Given the description of an element on the screen output the (x, y) to click on. 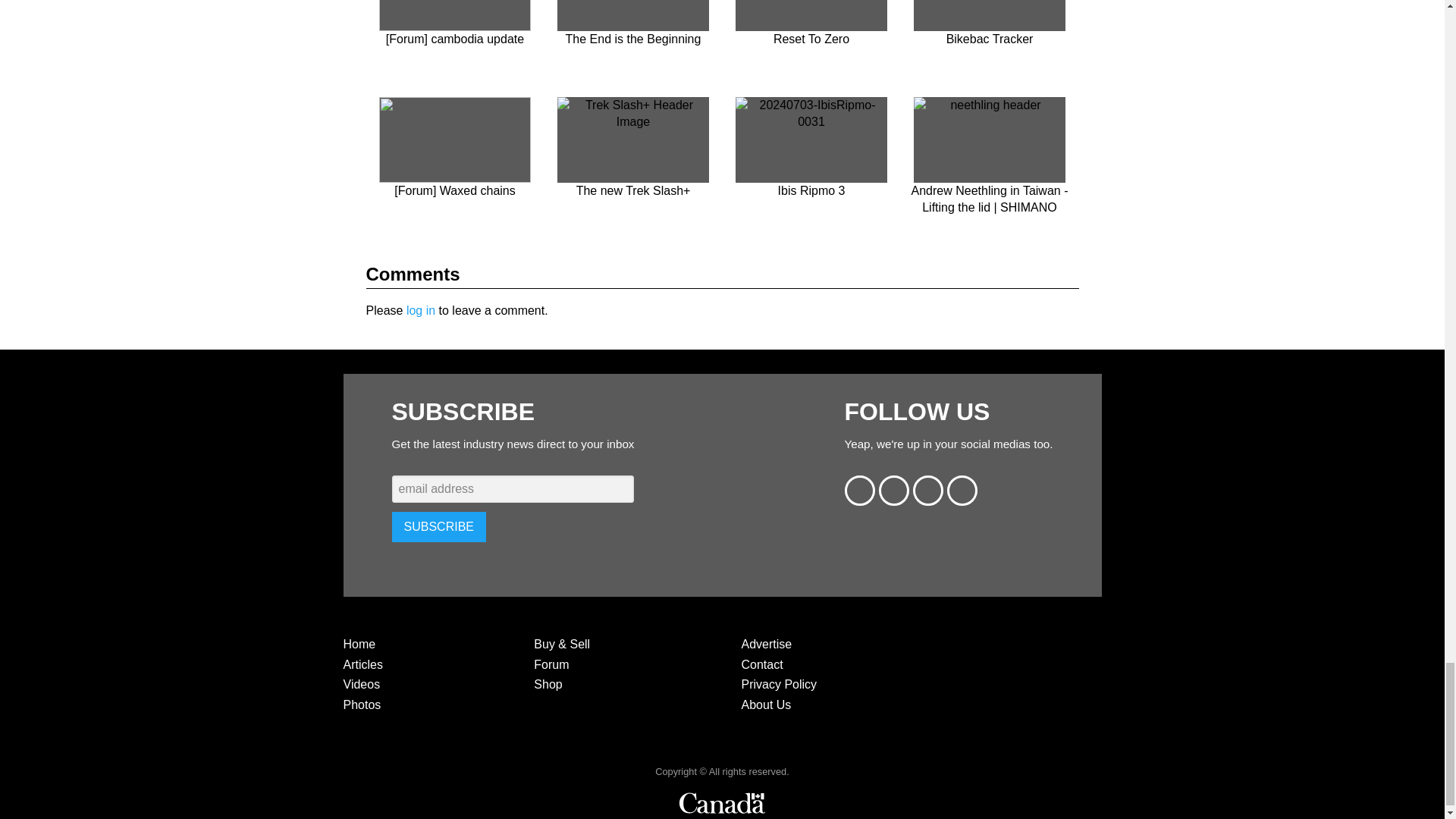
Subscribe (437, 526)
